Given the description of an element on the screen output the (x, y) to click on. 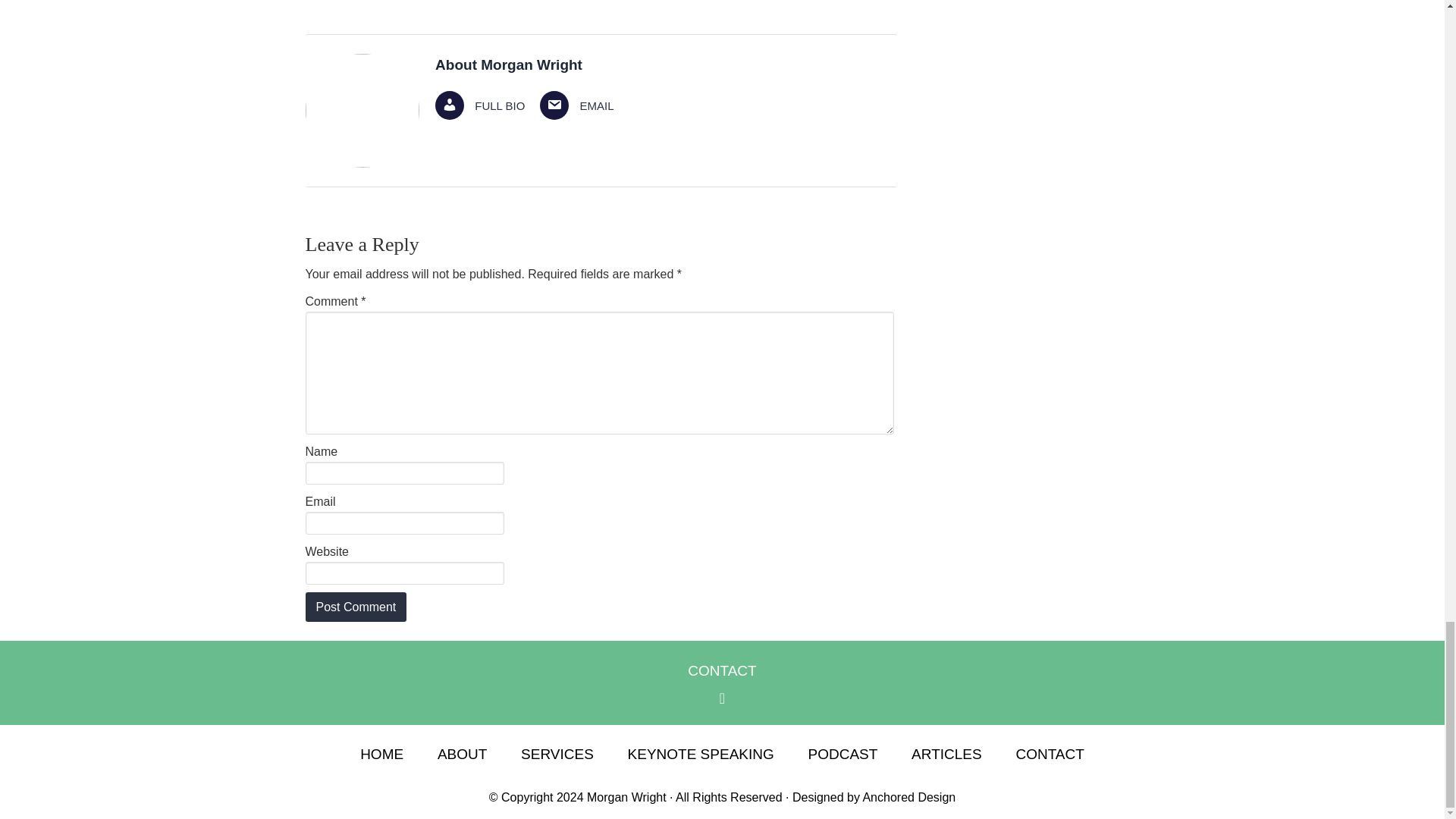
ABOUT (462, 754)
HOME (381, 754)
Post Comment (355, 606)
KEYNOTE SPEAKING (700, 754)
ARTICLES (946, 754)
SERVICES (557, 754)
EMAIL (576, 105)
FULL BIO (479, 105)
PODCAST (842, 754)
Post Comment (355, 606)
